Given the description of an element on the screen output the (x, y) to click on. 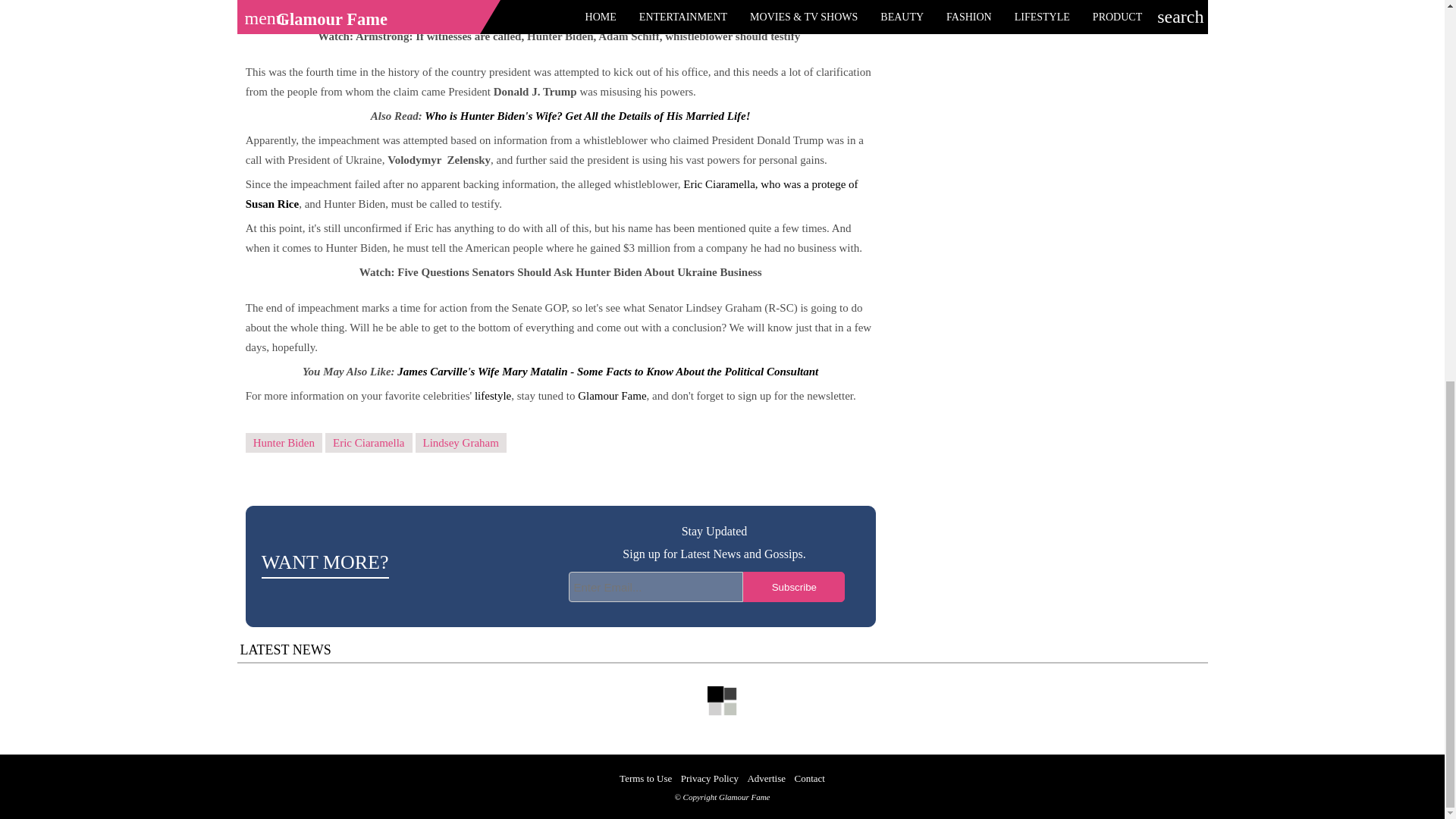
Glamour Fame (612, 395)
lifestyle (492, 395)
Terms to Use (645, 778)
Subscribe (793, 586)
Hunter Biden (283, 443)
Eric Ciaramella (368, 443)
Eric Ciaramella, who was a protege of Susan Rice (552, 193)
Lindsey Graham (460, 443)
